Given the description of an element on the screen output the (x, y) to click on. 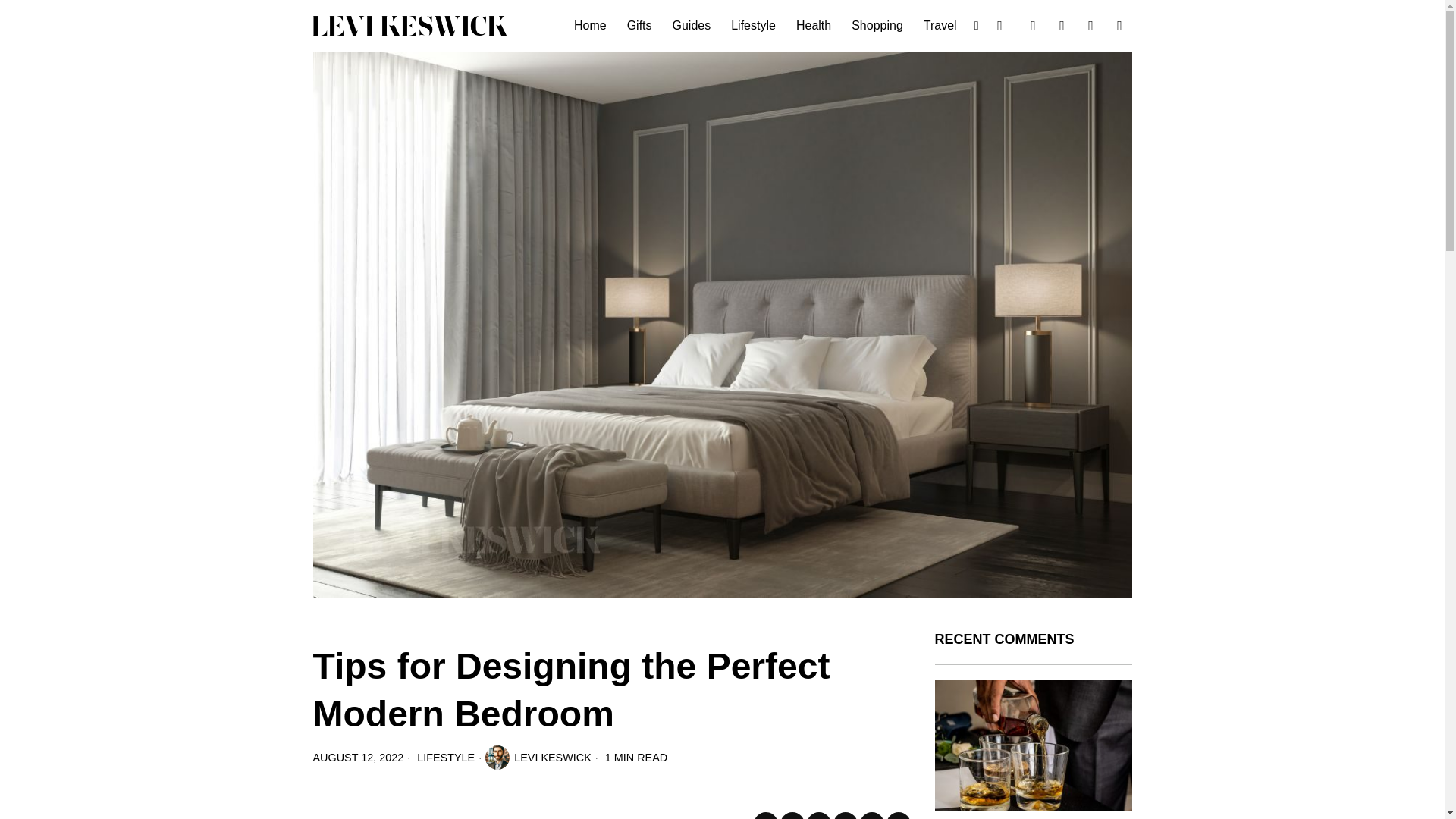
Lifestyle (754, 25)
Travel (941, 25)
LIFESTYLE (445, 757)
Shopping (878, 25)
Health (815, 25)
Home (590, 25)
Guides (692, 25)
Gifts (640, 25)
12 Aug, 2022 22:42:51 (358, 757)
LEVI KESWICK (537, 757)
